Given the description of an element on the screen output the (x, y) to click on. 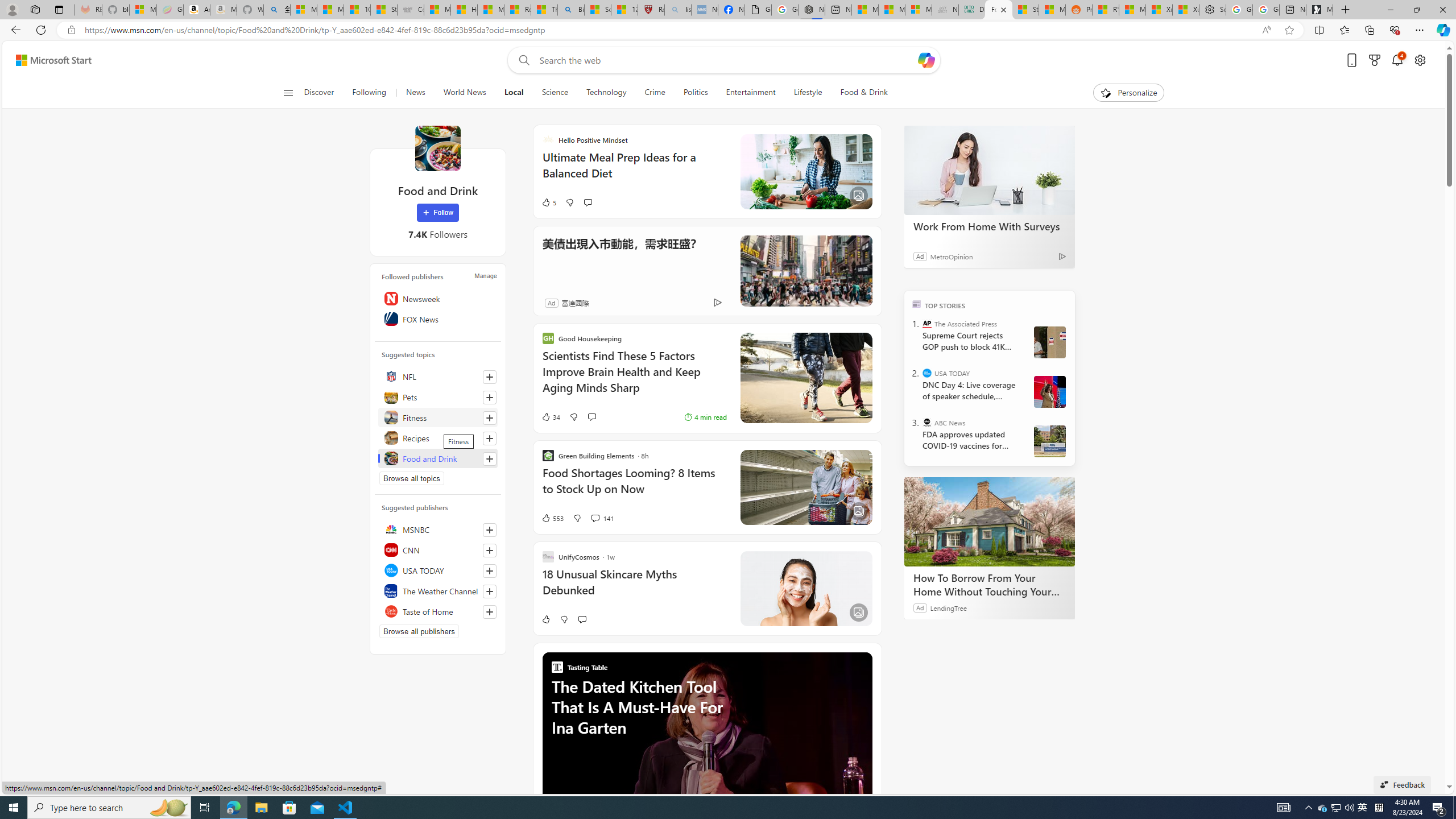
Ultimate Meal Prep Ideas for a Balanced Diet (633, 171)
Taste of Home (437, 610)
The Associated Press (927, 323)
Food and Drink - MSN (997, 9)
Science (554, 92)
Browse all topics (412, 477)
Crime (654, 92)
R******* | Trusted Community Engagement and Contributions (1105, 9)
To get missing image descriptions, open the context menu. (1105, 92)
Lifestyle (807, 92)
The Weather Channel (437, 590)
Start the conversation (581, 619)
